Given the description of an element on the screen output the (x, y) to click on. 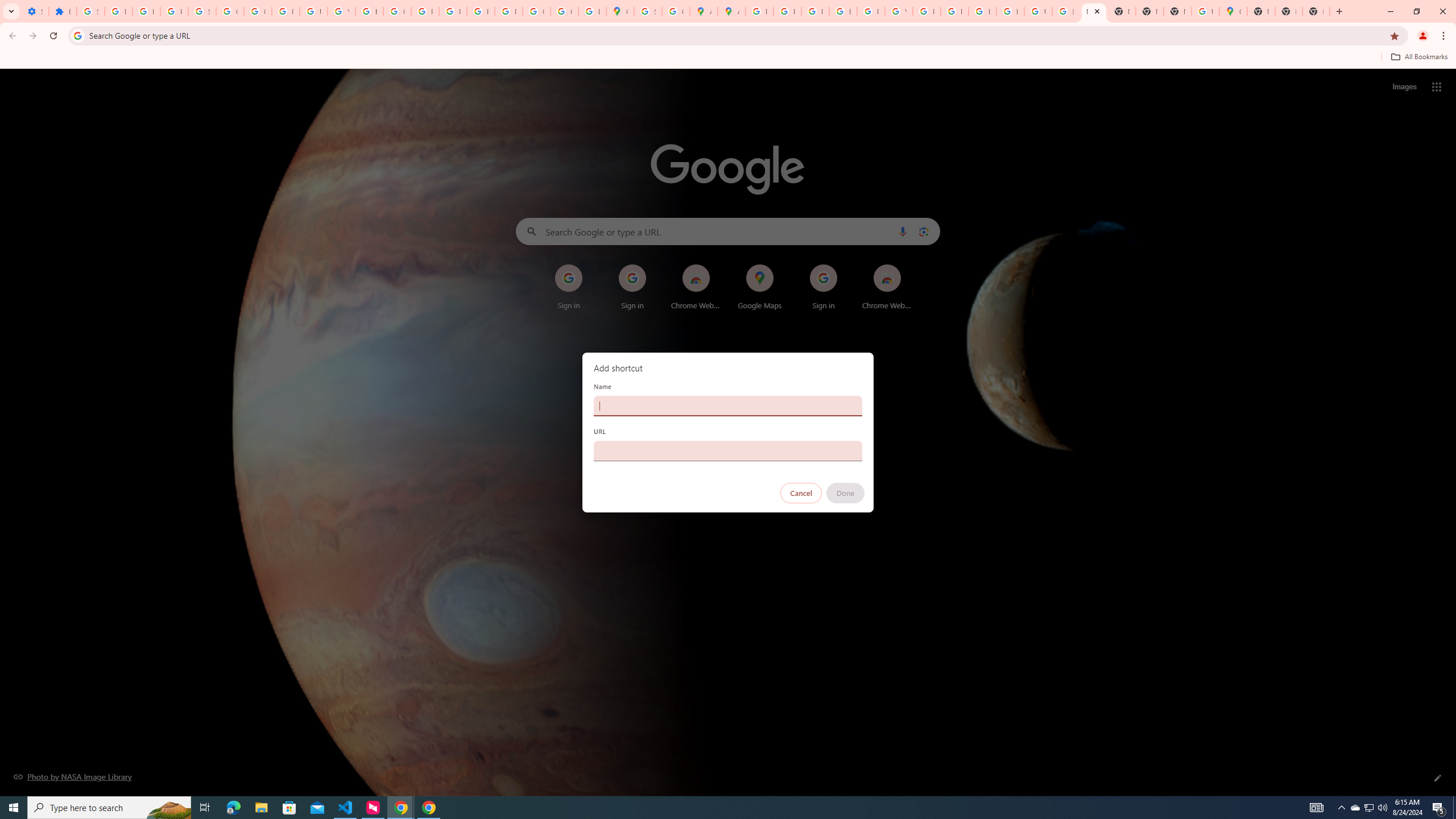
Done (845, 493)
